Given the description of an element on the screen output the (x, y) to click on. 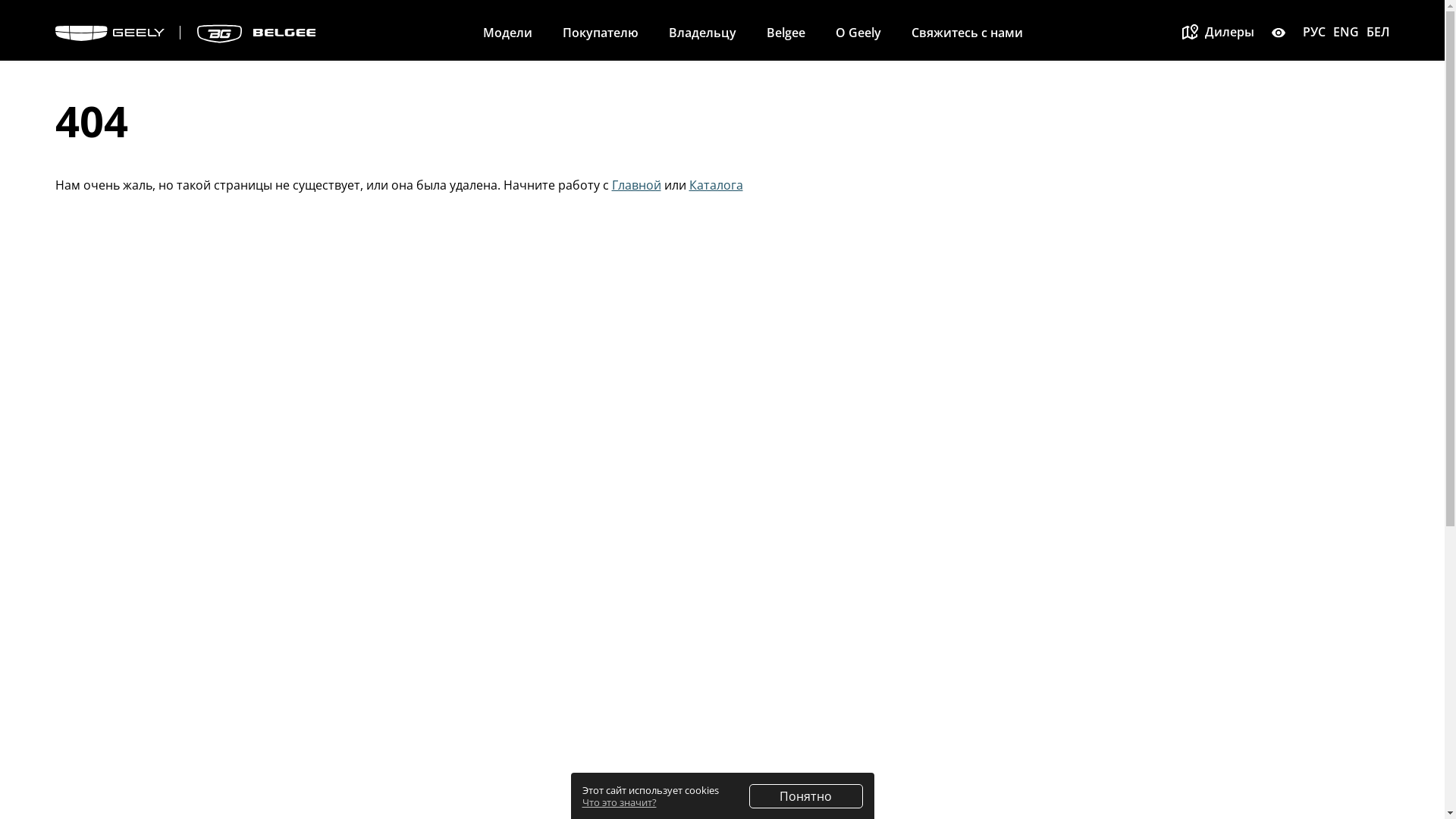
ENG Element type: text (1345, 31)
Belgee Element type: text (784, 32)
